Given the description of an element on the screen output the (x, y) to click on. 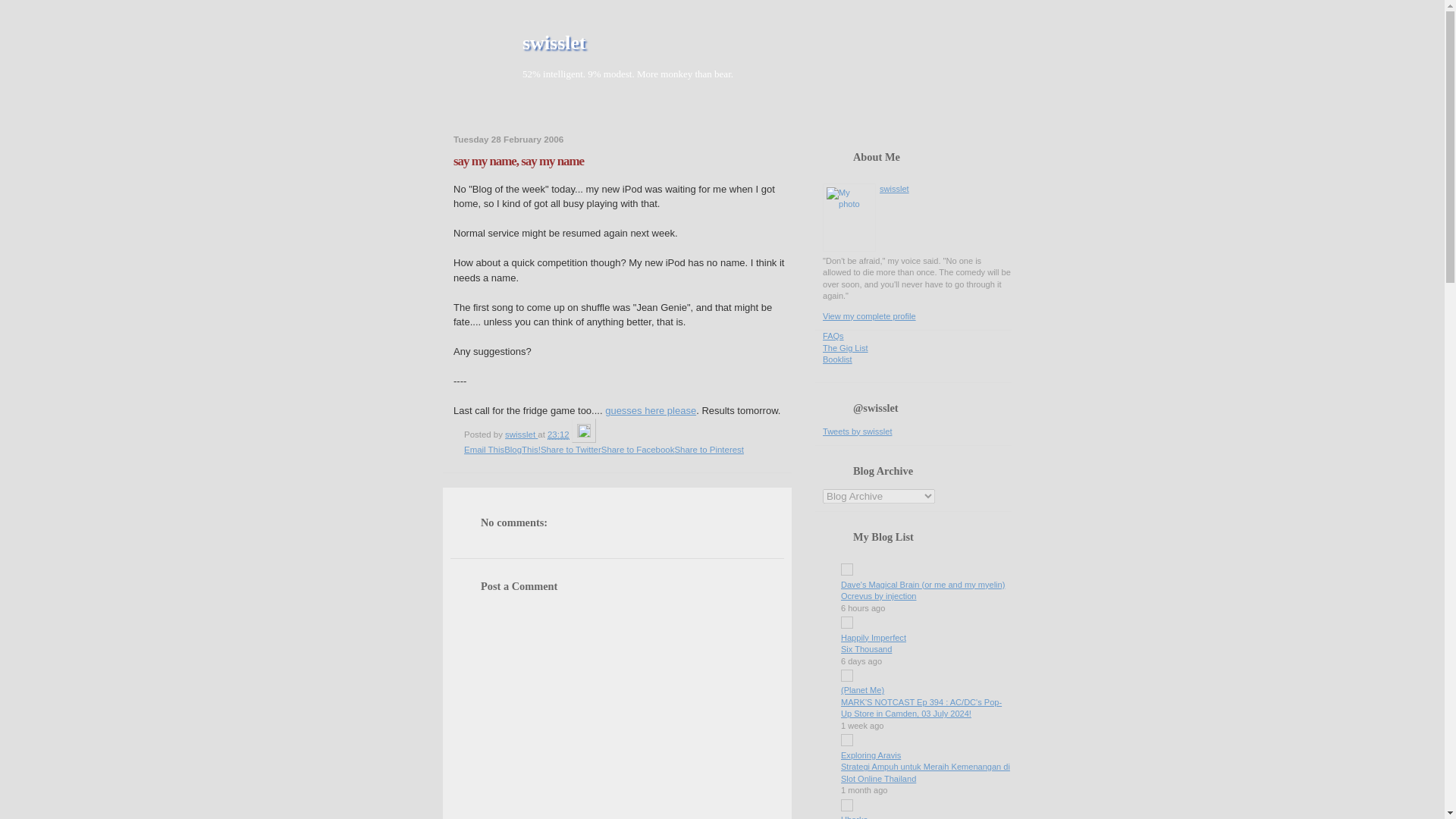
The Gig List (844, 347)
Booklist (836, 358)
Share to Twitter (570, 449)
Share to Pinterest (709, 449)
Share to Twitter (570, 449)
Share to Pinterest (709, 449)
Share to Facebook (638, 449)
guesses here please (650, 410)
Email This (483, 449)
23:12 (558, 434)
Six Thousand (866, 648)
swisslet (554, 42)
Ocrevus by injection (878, 595)
swisslet (521, 433)
